Given the description of an element on the screen output the (x, y) to click on. 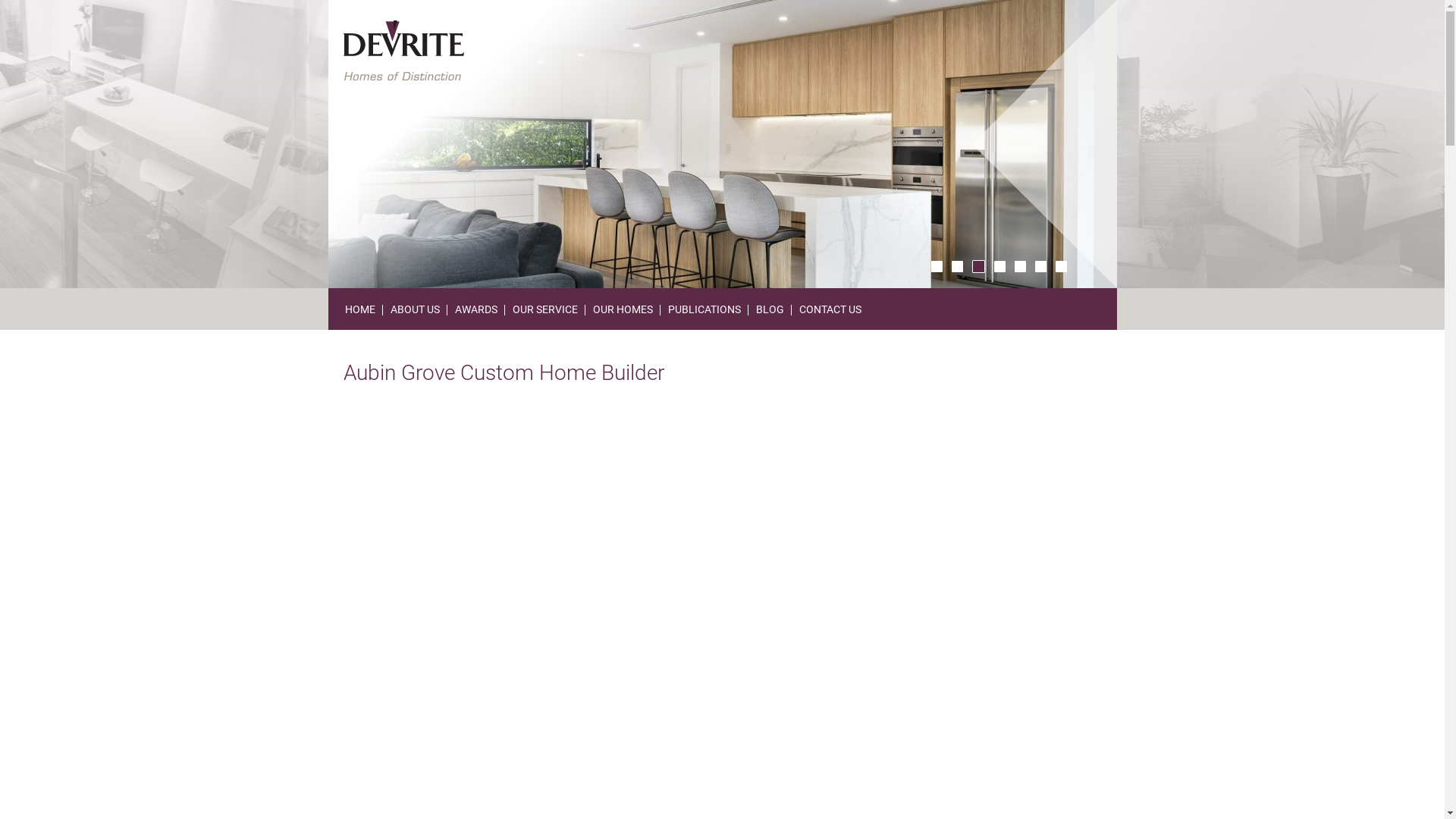
Devrite Custom Home Builders Perth Element type: text (402, 50)
3 Element type: text (978, 266)
6 Element type: text (1039, 266)
5 Element type: text (1020, 266)
ABOUT US Element type: text (414, 309)
CONTACT US Element type: text (830, 309)
2 Element type: text (956, 266)
PUBLICATIONS Element type: text (703, 309)
1 Element type: text (936, 266)
4 Element type: text (998, 266)
OUR HOMES Element type: text (622, 309)
OUR SERVICE Element type: text (545, 309)
AWARDS Element type: text (476, 309)
7 Element type: text (1060, 266)
HOME Element type: text (359, 309)
BLOG Element type: text (768, 309)
